Given the description of an element on the screen output the (x, y) to click on. 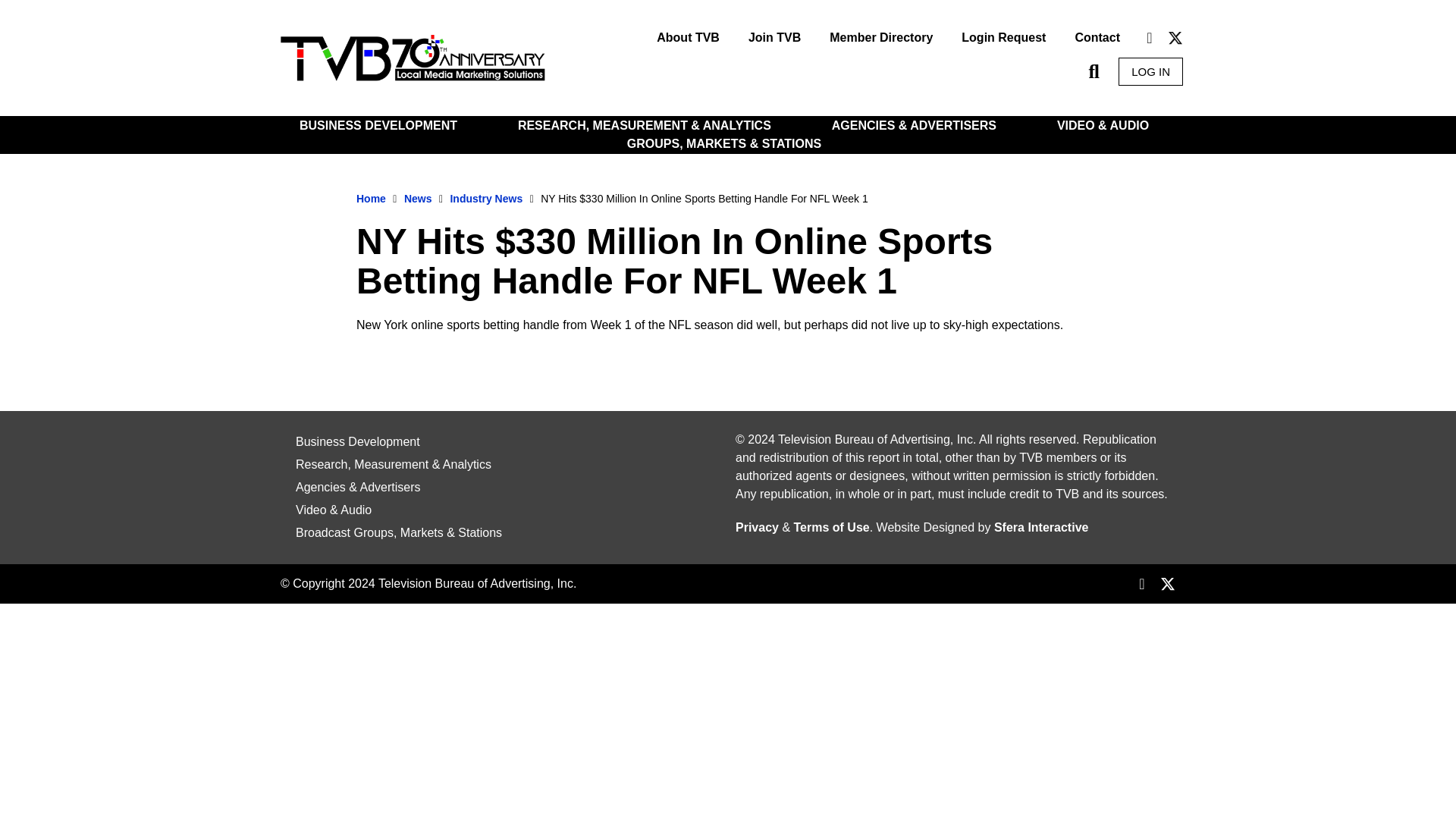
Home (370, 198)
About TVB (687, 38)
BUSINESS DEVELOPMENT (382, 126)
LOG IN (1150, 71)
News (418, 198)
Join TVB (774, 38)
Industry News (485, 198)
Contact (1096, 38)
Login Request (1003, 38)
Member Directory (881, 38)
